Given the description of an element on the screen output the (x, y) to click on. 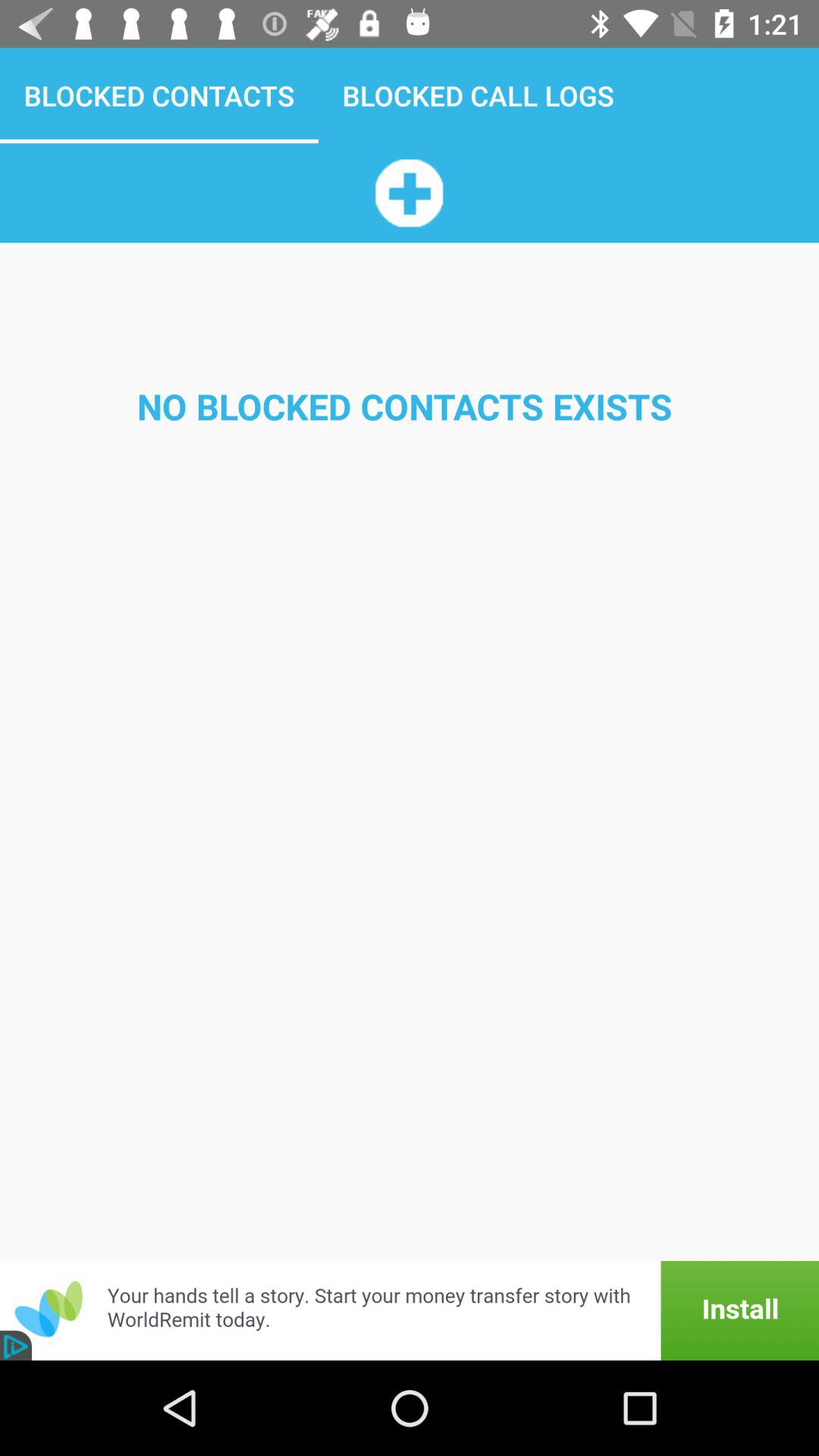
go to contacts name list (409, 193)
